Given the description of an element on the screen output the (x, y) to click on. 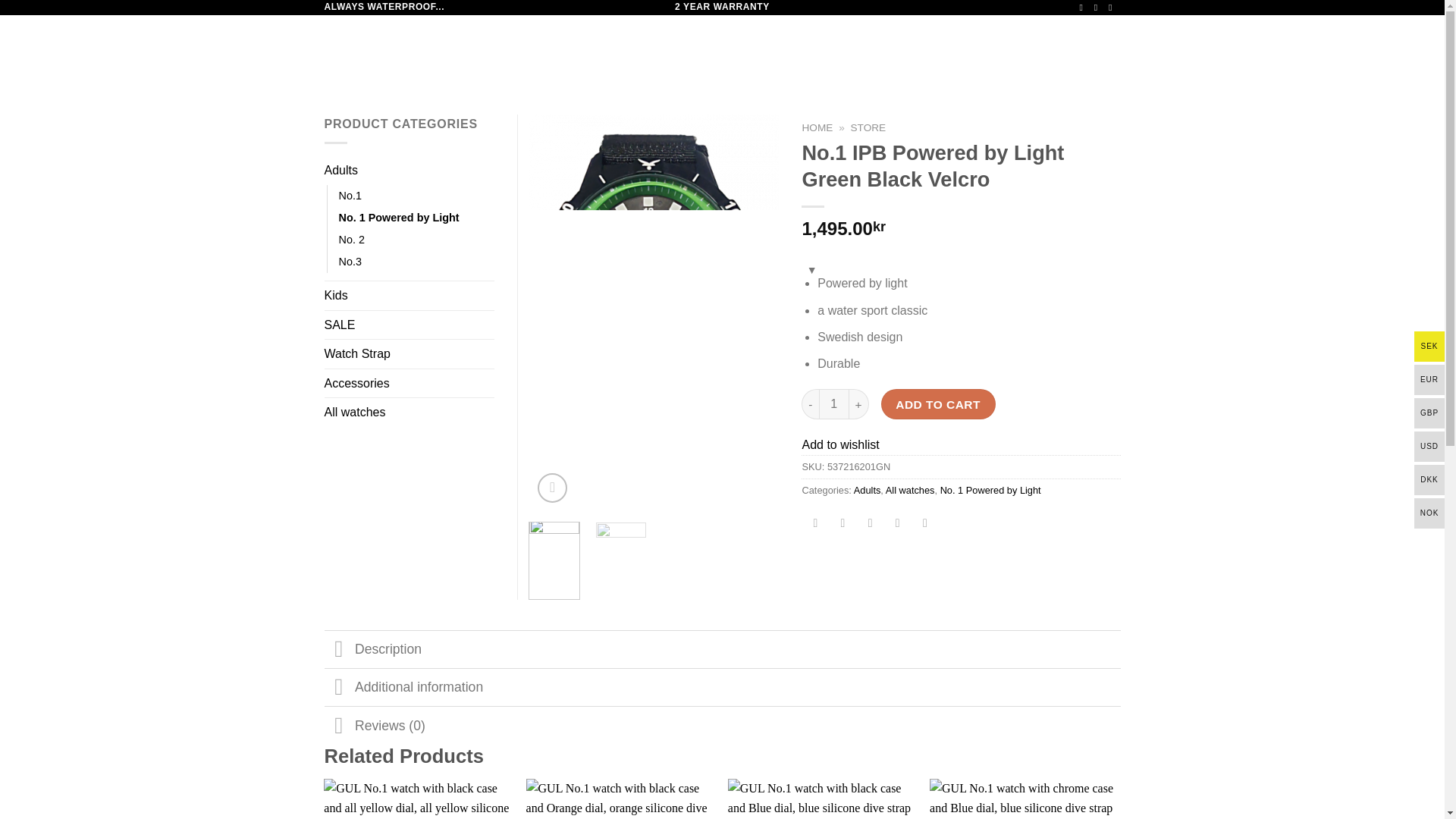
LOGIN (982, 49)
Gulwatches - Gulwatches waterproof watches from sweden (400, 49)
Login (982, 49)
Add to wishlist (840, 444)
HOME (535, 49)
Adults (866, 490)
Zoom (552, 487)
ADD TO CART (937, 404)
Cart (1069, 49)
HOME (817, 127)
